Given the description of an element on the screen output the (x, y) to click on. 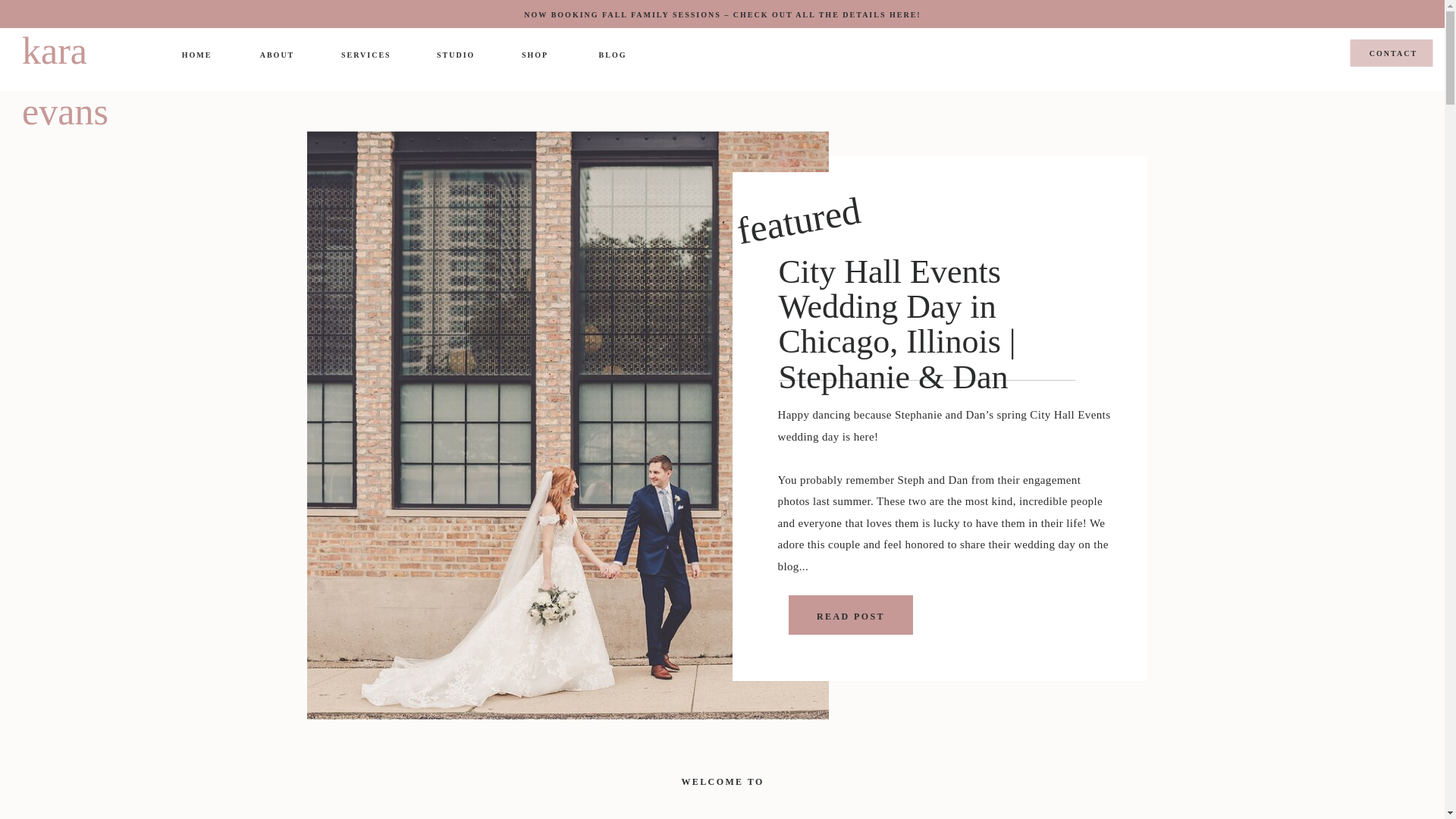
STUDIO (454, 56)
kara evans (89, 49)
HOME (196, 56)
SHOP (534, 56)
ABOUT (277, 55)
SERVICES (365, 56)
CONTACT (1394, 56)
READ POST (845, 584)
Jen Alyn on How to Create Content that Connects (932, 395)
BLOG (611, 57)
